Given the description of an element on the screen output the (x, y) to click on. 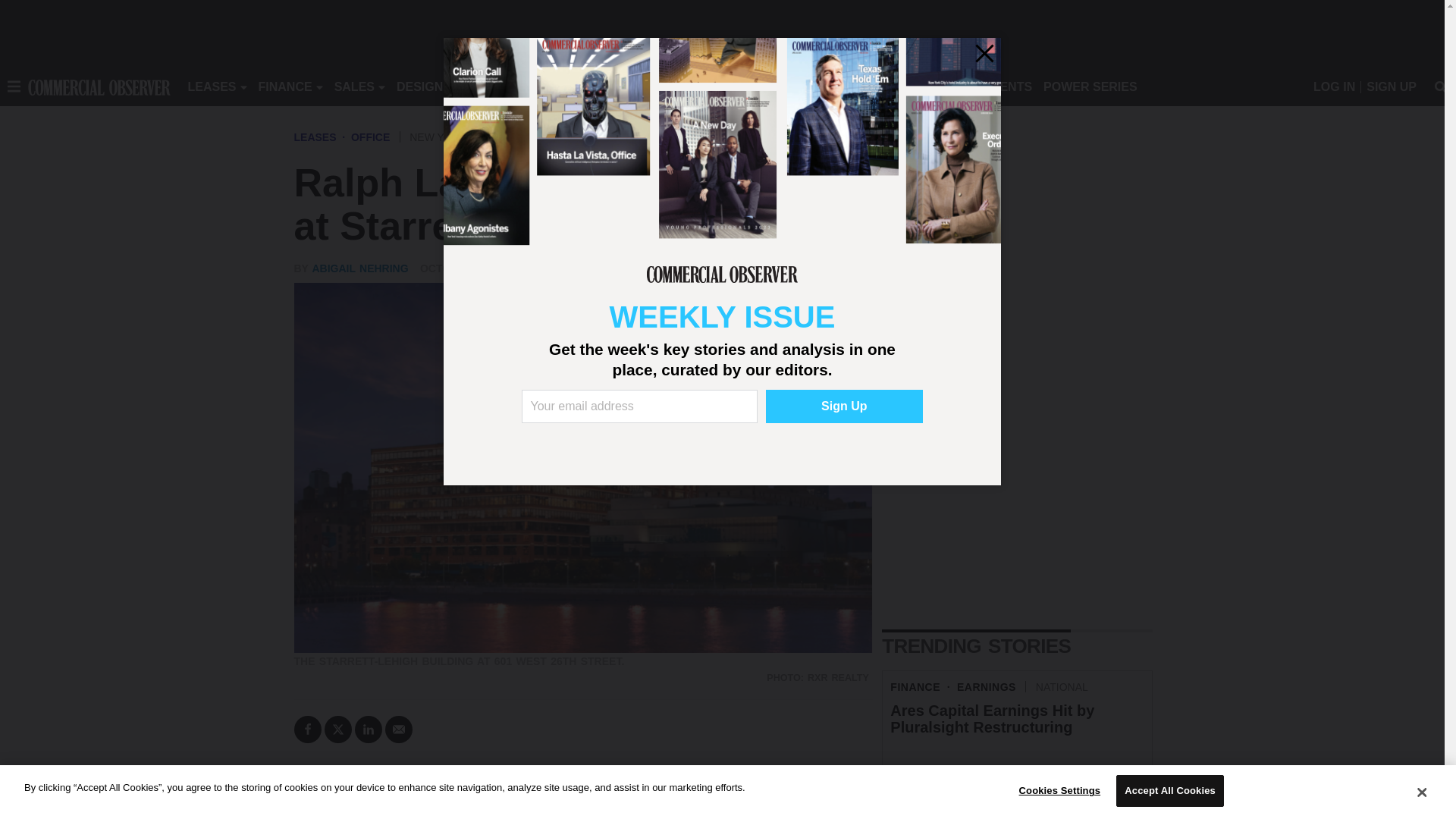
MORE (691, 86)
Share on Facebook (307, 728)
Posts by Abigail Nehring (359, 268)
TECHNOLOGY (619, 86)
Send email (398, 728)
LEASES (211, 86)
FINANCE (286, 86)
Share on LinkedIn (368, 728)
Commercial Observer Home (98, 86)
Tweet (338, 728)
SALES (354, 86)
